Given the description of an element on the screen output the (x, y) to click on. 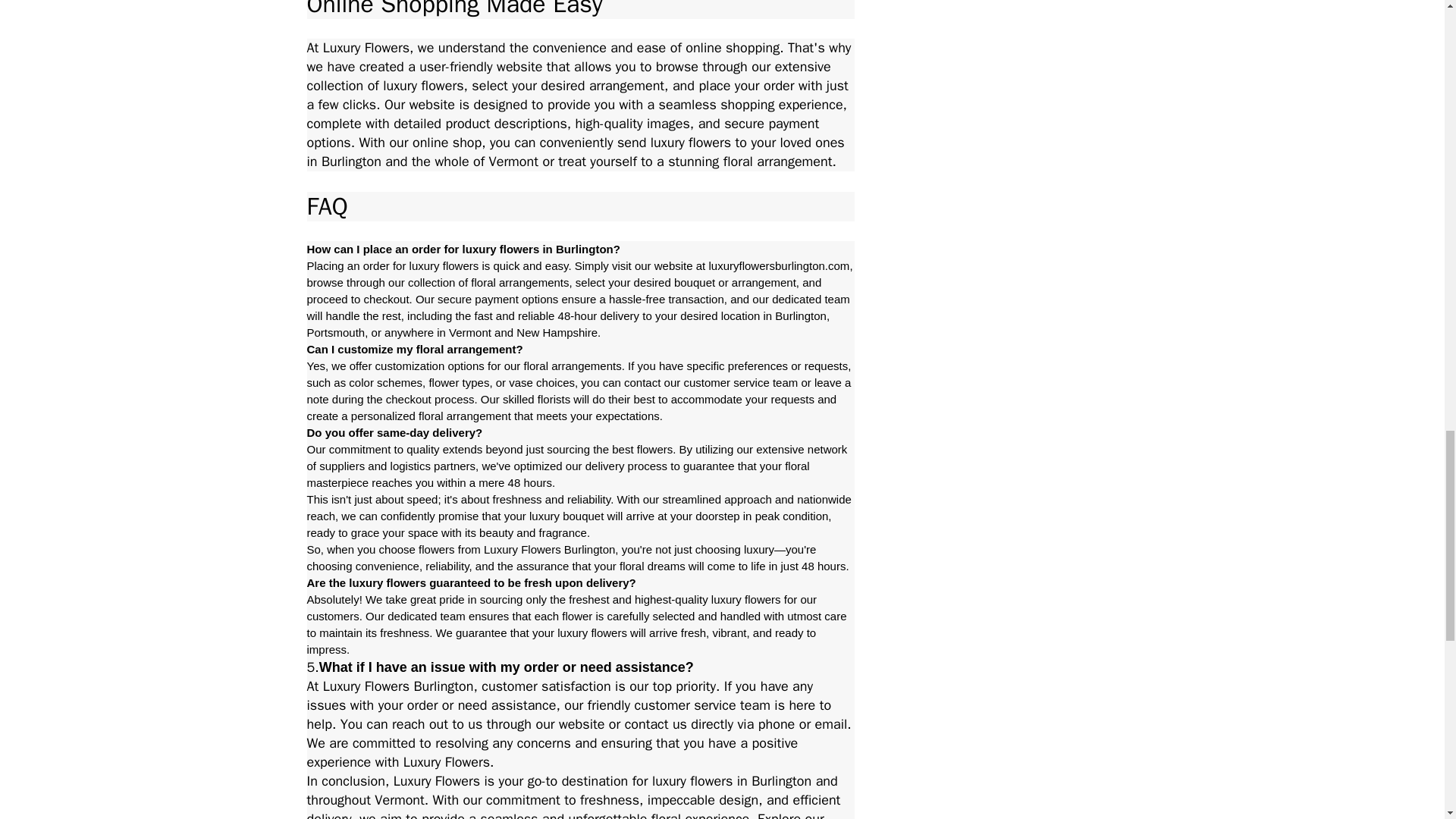
luxuryflowersburlington.com (777, 265)
